Given the description of an element on the screen output the (x, y) to click on. 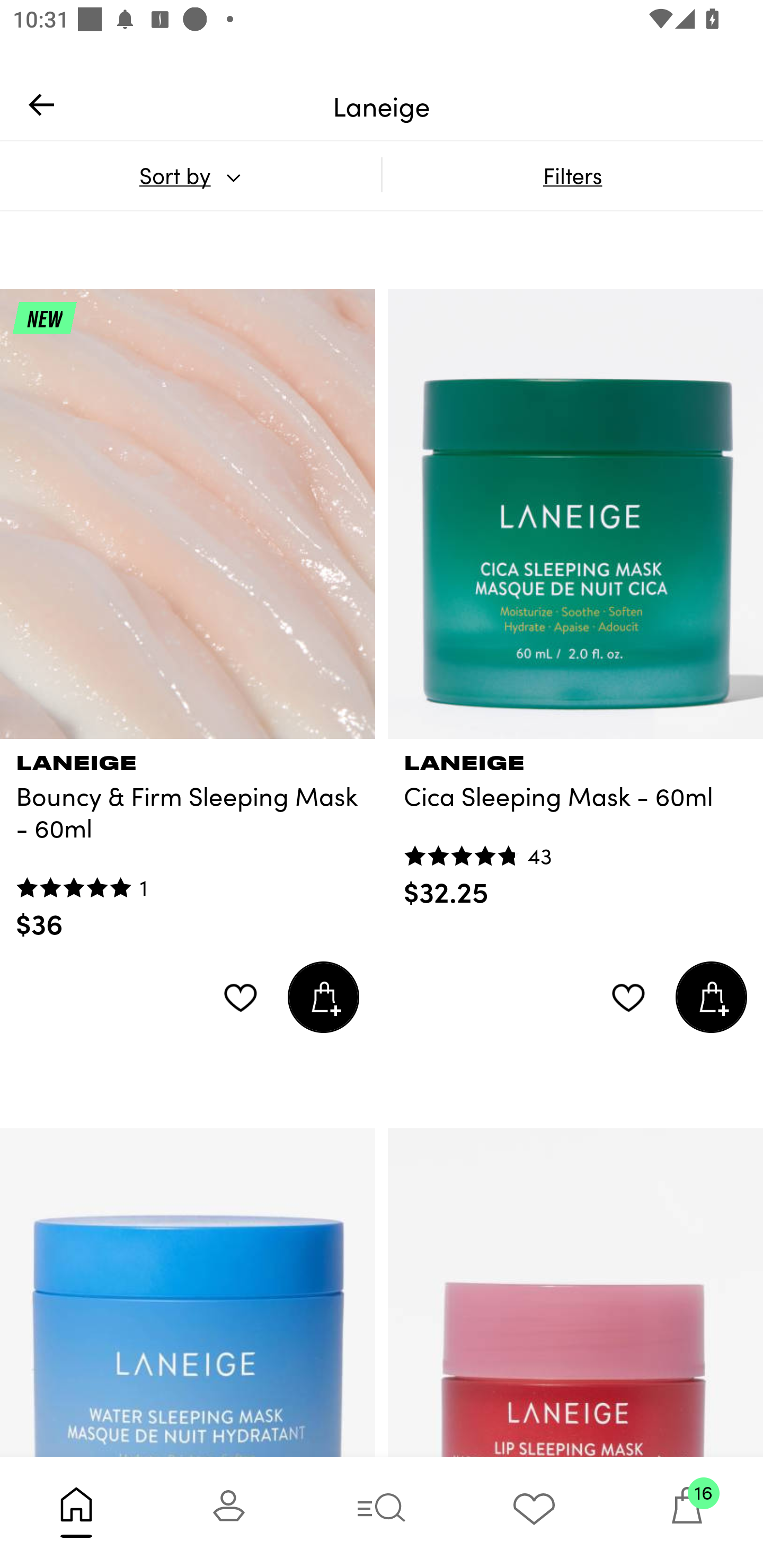
Sort by (190, 174)
Filters (572, 174)
LANEIGE Bouncy & Firm Sleeping Mask - 60ml 1 $36 (187, 840)
LANEIGE Cica Sleeping Mask - 60ml 43 $32.25 (575, 824)
16 (686, 1512)
